Given the description of an element on the screen output the (x, y) to click on. 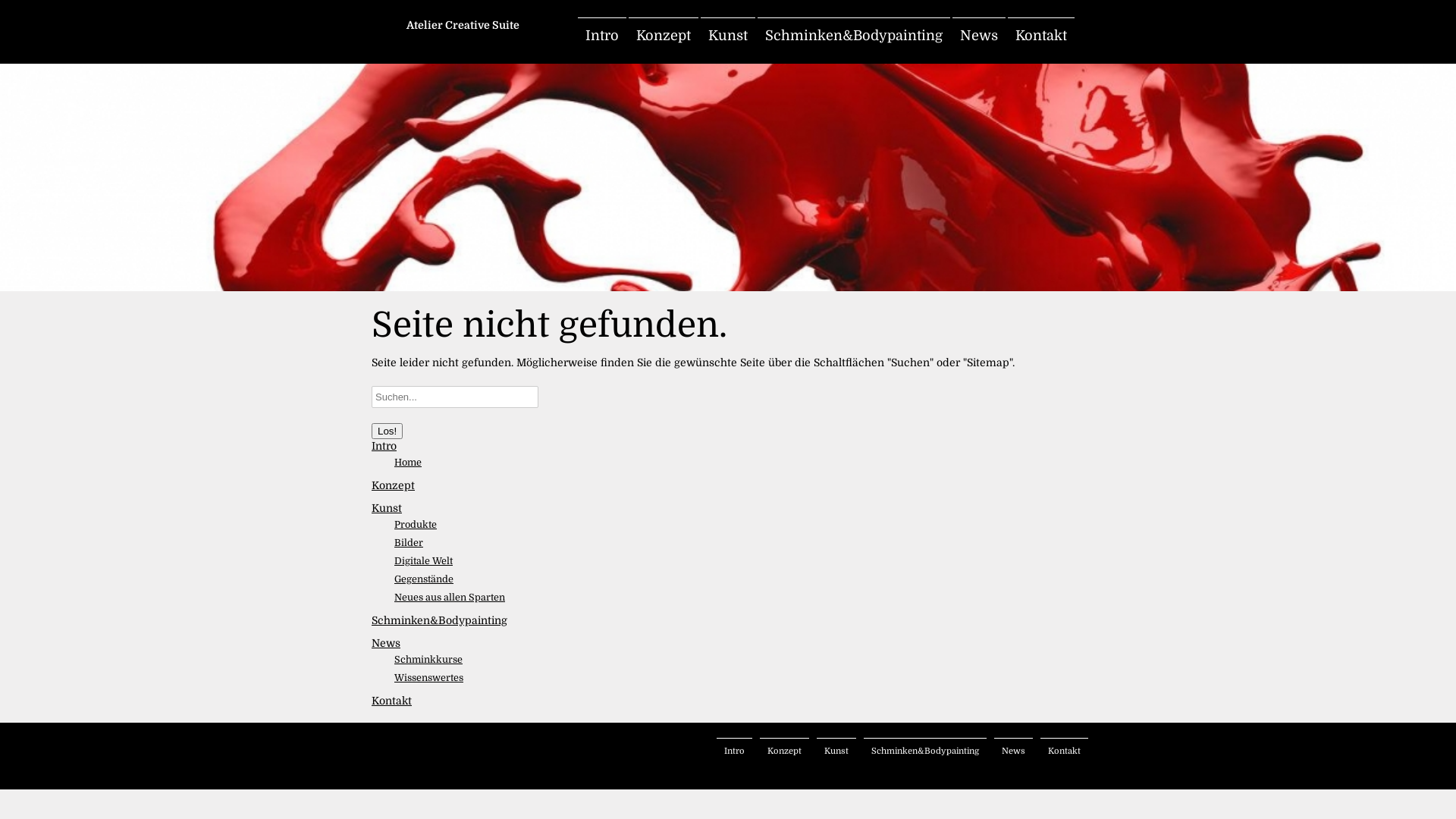
Konzept Element type: text (784, 750)
Schminkkurse Element type: text (428, 659)
News Element type: text (1013, 750)
Intro Element type: text (734, 750)
Kontakt Element type: text (1040, 35)
Los! Element type: text (386, 431)
Konzept Element type: text (663, 35)
Kunst Element type: text (836, 750)
Bilder Element type: text (408, 542)
Schminken&Bodypainting Element type: text (924, 750)
News Element type: text (978, 35)
Produkte Element type: text (415, 524)
Home Element type: text (407, 462)
Kunst Element type: text (386, 508)
Kunst Element type: text (727, 35)
Wissenswertes Element type: text (428, 677)
Schminken&Bodypainting Element type: text (853, 35)
Kontakt Element type: text (391, 700)
Digitale Welt Element type: text (423, 560)
Neues aus allen Sparten Element type: text (449, 597)
Intro Element type: text (383, 445)
Kontakt Element type: text (1064, 750)
Intro Element type: text (601, 35)
Schminken&Bodypainting Element type: text (439, 620)
Konzept Element type: text (392, 485)
News Element type: text (385, 643)
Atelier Creative Suite Element type: text (462, 18)
